Given the description of an element on the screen output the (x, y) to click on. 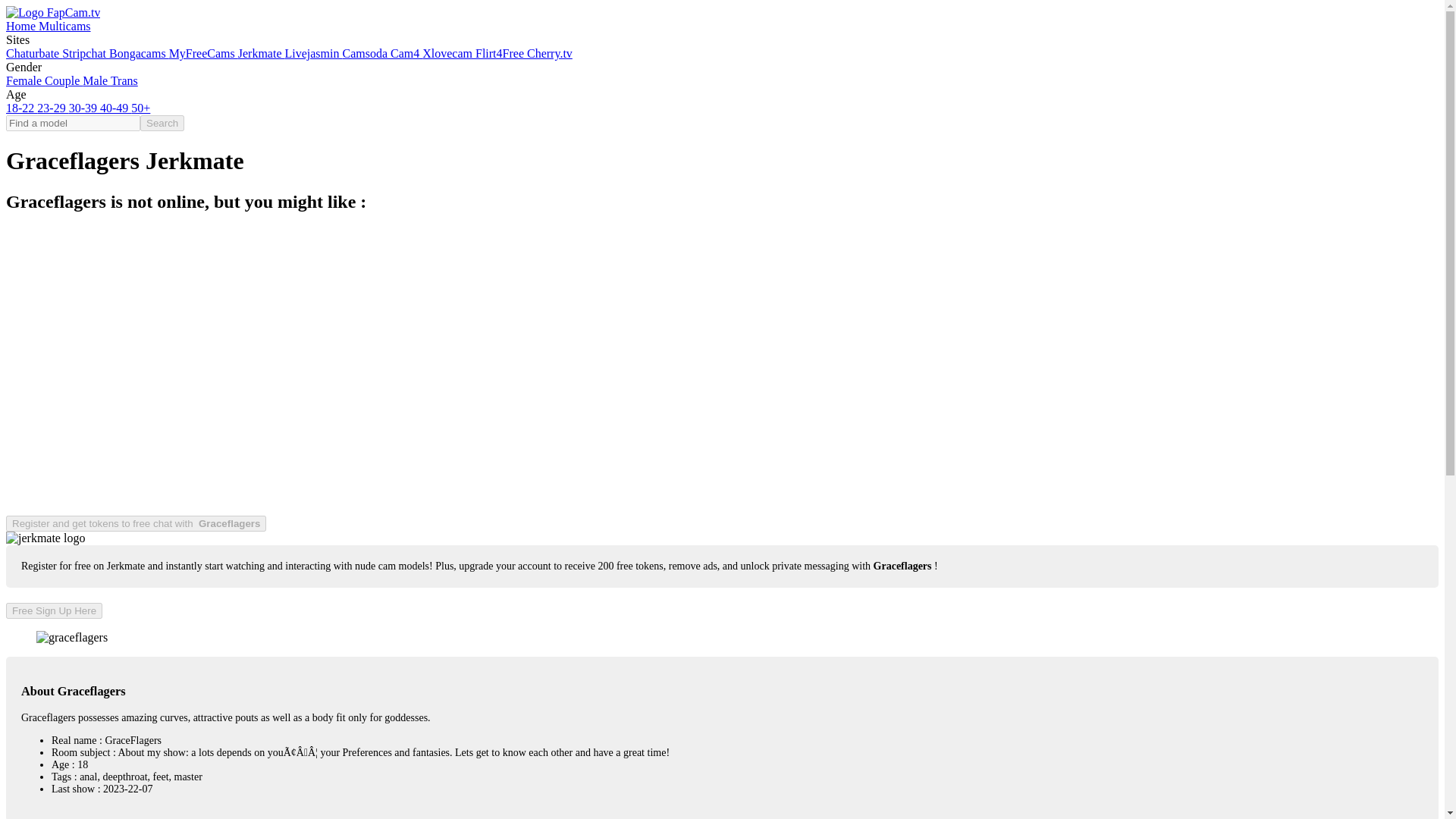
Female (25, 80)
MyFreeCams (203, 52)
Couple (63, 80)
Register and get tokens to free chat with  Graceflagers (135, 523)
Fapcam.tv (52, 11)
Now on Bongacams (138, 52)
Livejasmin (312, 52)
Now on Jerkmate (261, 52)
Male (96, 80)
Now on Chaturbate (33, 52)
Bongacams (138, 52)
Free Sign Up Here (53, 610)
Search (161, 123)
Fapcam.tv (22, 25)
Now on Flirt4Free (501, 52)
